Given the description of an element on the screen output the (x, y) to click on. 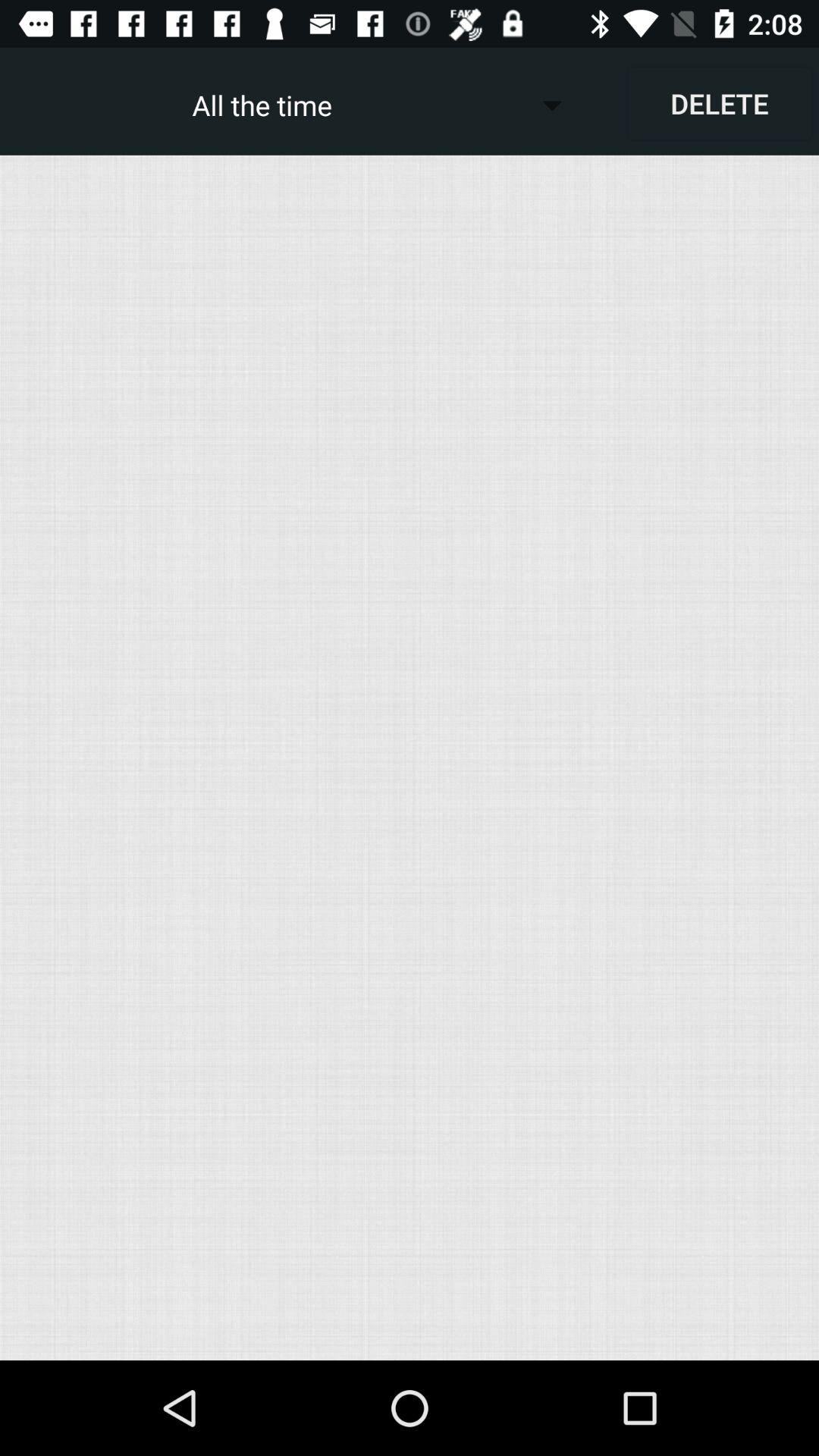
turn off app next to the all the time item (719, 103)
